Given the description of an element on the screen output the (x, y) to click on. 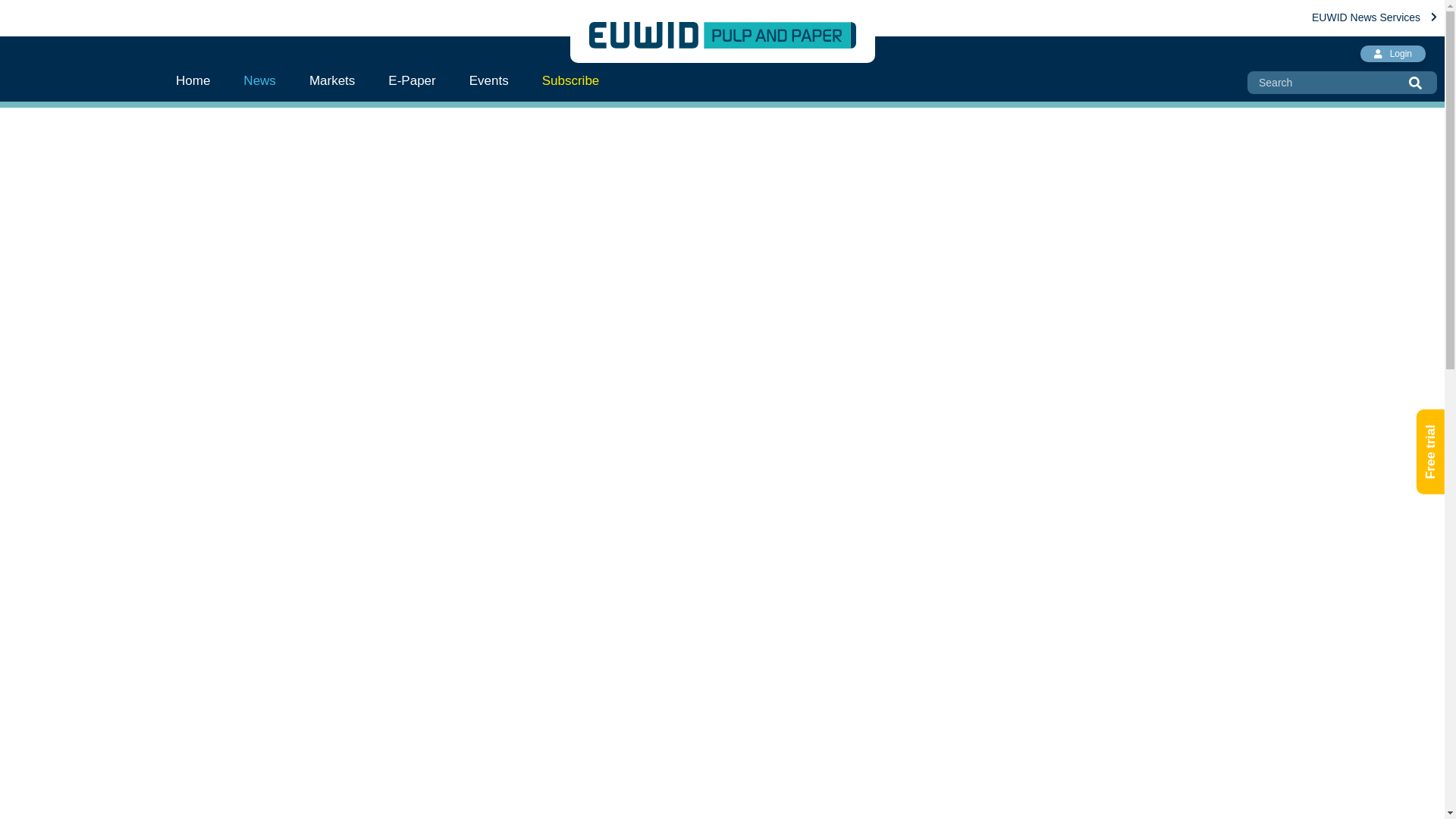
Events (488, 80)
Login (1392, 53)
Home (201, 80)
E-Paper (411, 80)
EUWID News Services (1374, 17)
Subscribe (570, 80)
Markets (331, 80)
News (259, 80)
